Given the description of an element on the screen output the (x, y) to click on. 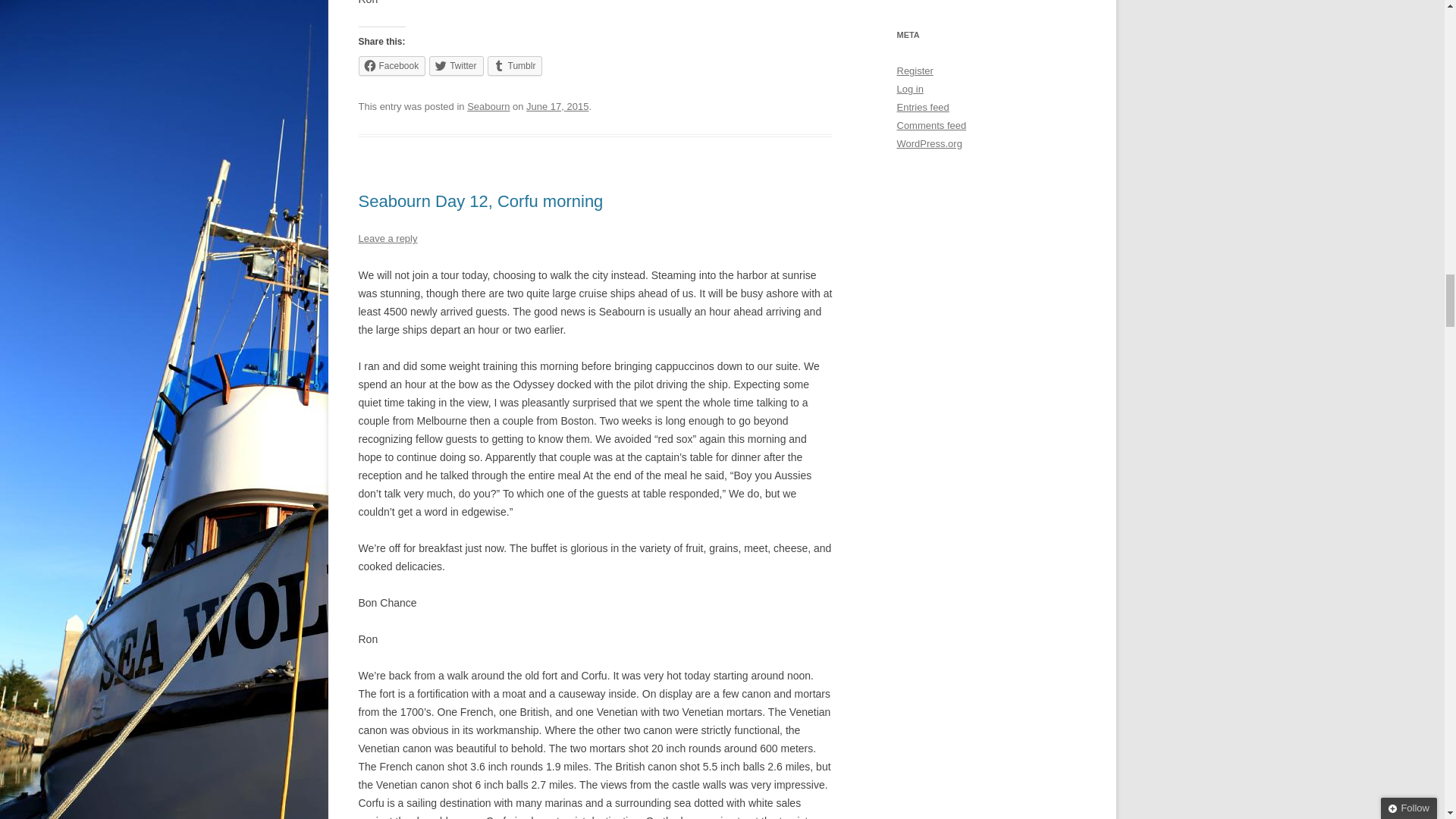
Click to share on Tumblr (515, 66)
Seabourn (488, 106)
Click to share on Twitter (456, 66)
Click to share on Facebook (391, 66)
Twitter (456, 66)
Tumblr (515, 66)
Facebook (391, 66)
June 17, 2015 (556, 106)
Seabourn Day 12, Corfu morning (480, 200)
Leave a reply (387, 238)
8:26 pm (556, 106)
